Given the description of an element on the screen output the (x, y) to click on. 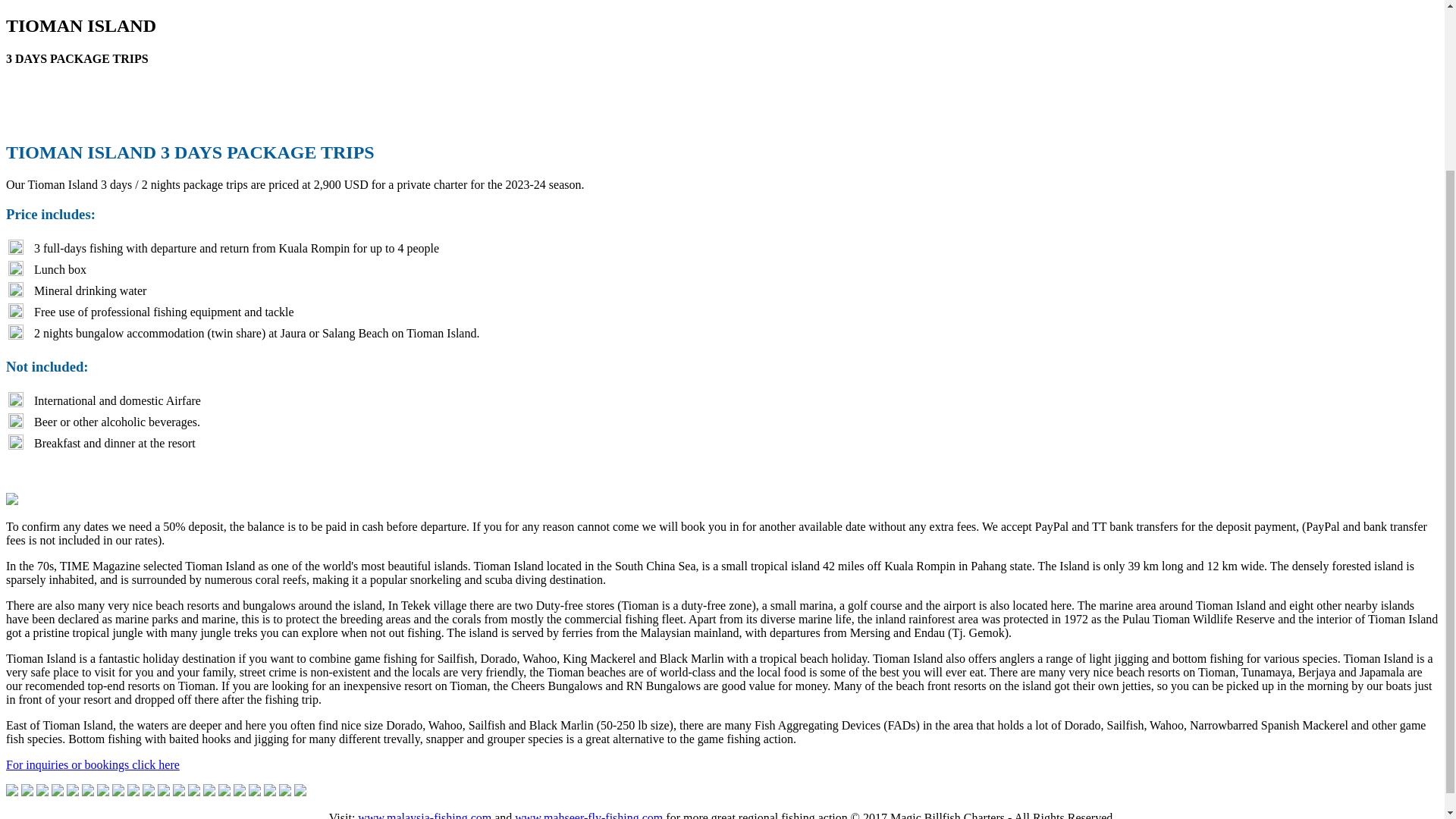
For inquiries or bookings click here (92, 764)
